Given the description of an element on the screen output the (x, y) to click on. 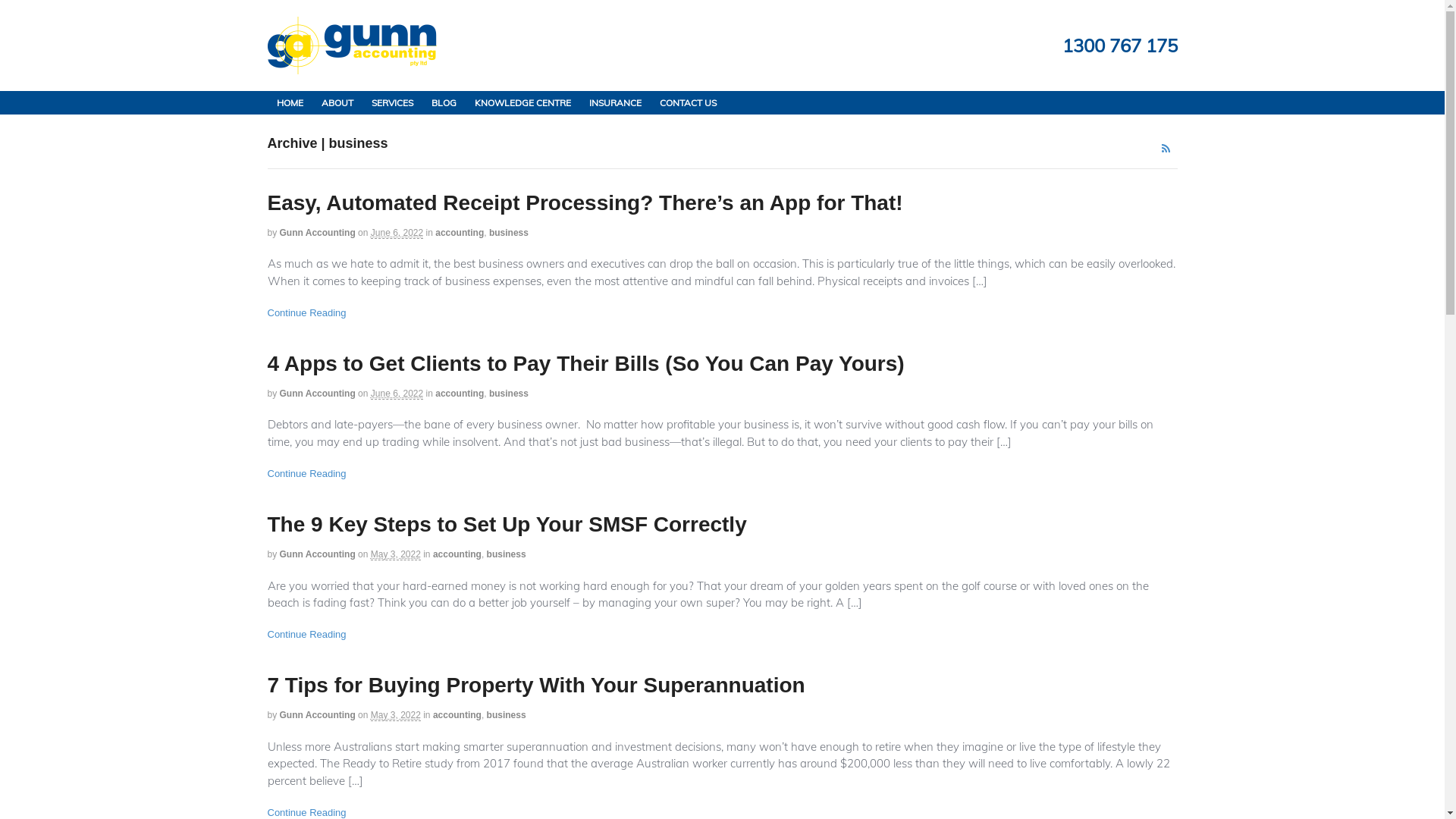
business Element type: text (506, 714)
Griffith Xero & Tax Experts Element type: hover (351, 65)
accounting Element type: text (457, 714)
accounting Element type: text (459, 393)
ABOUT Element type: text (337, 102)
The 9 Key Steps to Set Up Your SMSF Correctly Element type: text (506, 524)
business Element type: text (508, 232)
Continue Reading Element type: text (305, 812)
accounting Element type: text (457, 554)
SERVICES Element type: text (392, 102)
INSURANCE Element type: text (614, 102)
business Element type: text (508, 393)
business Element type: text (506, 554)
Gunn Accounting Element type: text (317, 232)
7 Tips for Buying Property With Your Superannuation Element type: text (535, 684)
Gunn Accounting Element type: text (317, 554)
HOME Element type: text (288, 102)
Continue Reading Element type: text (305, 312)
BLOG Element type: text (442, 102)
Continue Reading Element type: text (305, 473)
KNOWLEDGE CENTRE Element type: text (522, 102)
accounting Element type: text (459, 232)
Continue Reading Element type: text (305, 634)
Gunn Accounting Element type: text (317, 393)
CONTACT US Element type: text (687, 102)
1300 767 175 Element type: text (1118, 45)
Gunn Accounting Element type: text (317, 714)
